Given the description of an element on the screen output the (x, y) to click on. 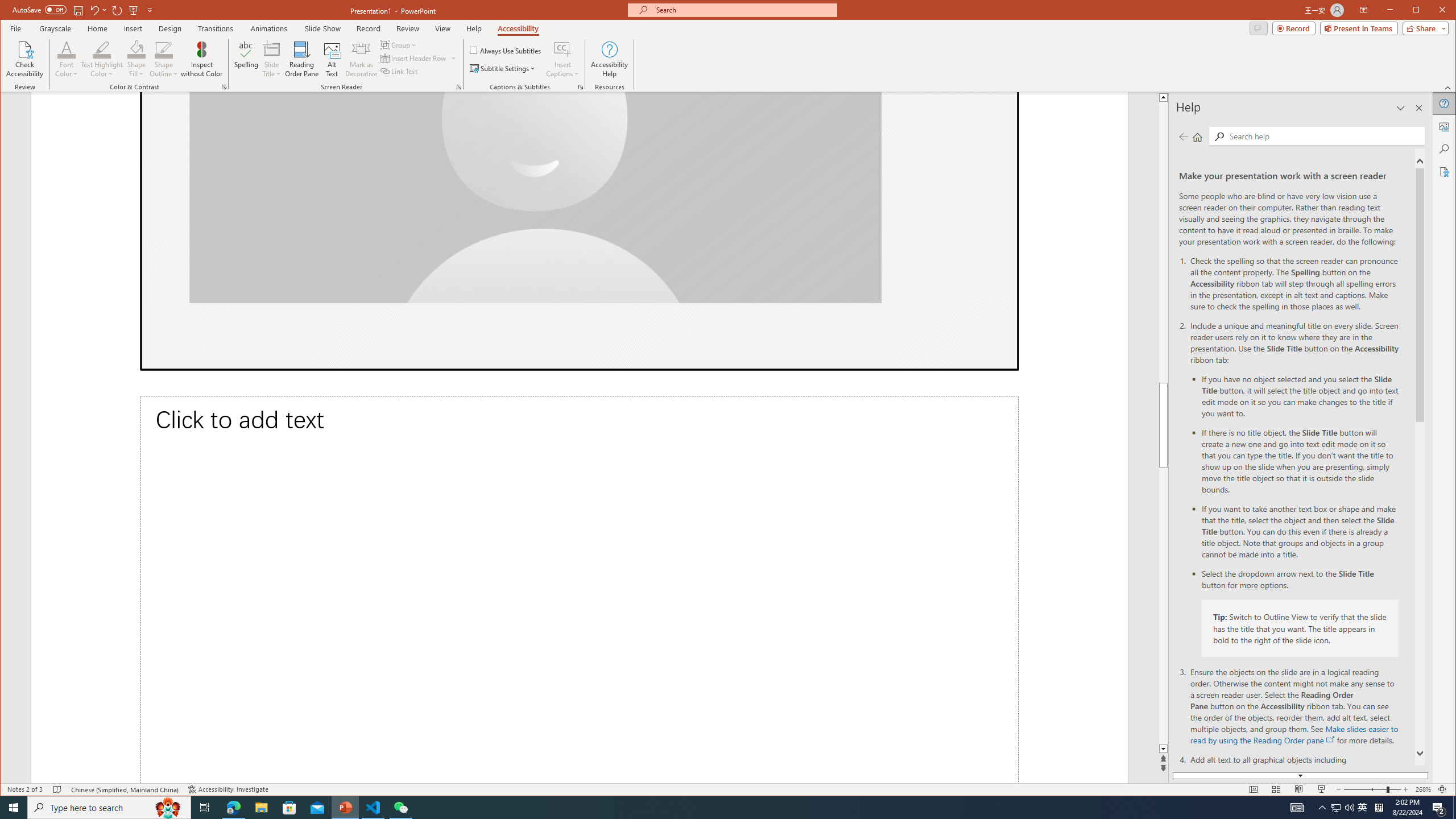
Screen Reader (458, 86)
Group (399, 44)
